Given the description of an element on the screen output the (x, y) to click on. 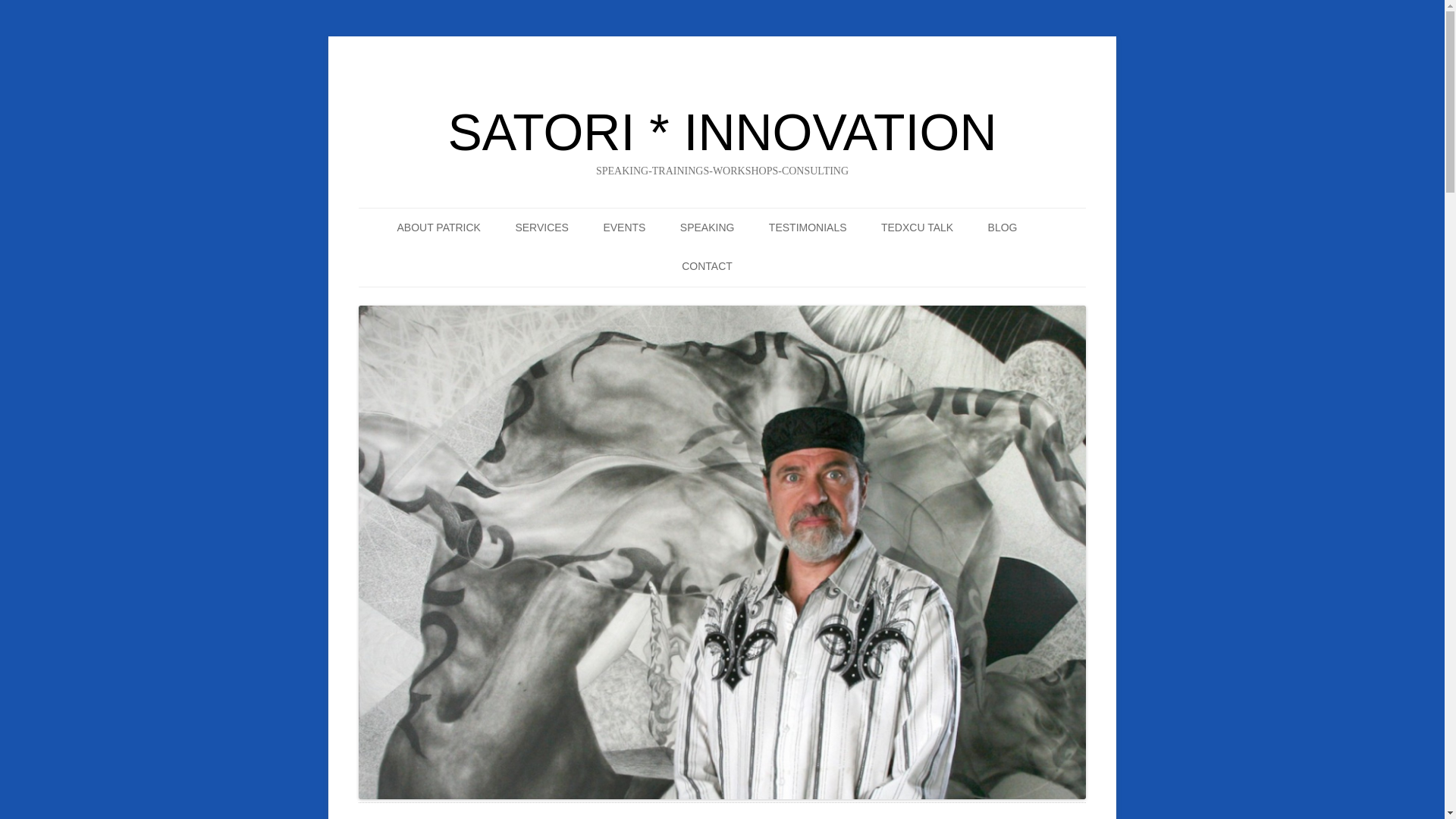
CONTACT (706, 266)
TEDXCU TALK (916, 228)
Skip to content (771, 215)
SERVICES (542, 228)
ABOUT PATRICK (438, 228)
TESTIMONIALS (807, 228)
SPEAKING (707, 228)
Skip to content (771, 215)
EVENTS (623, 228)
